Given the description of an element on the screen output the (x, y) to click on. 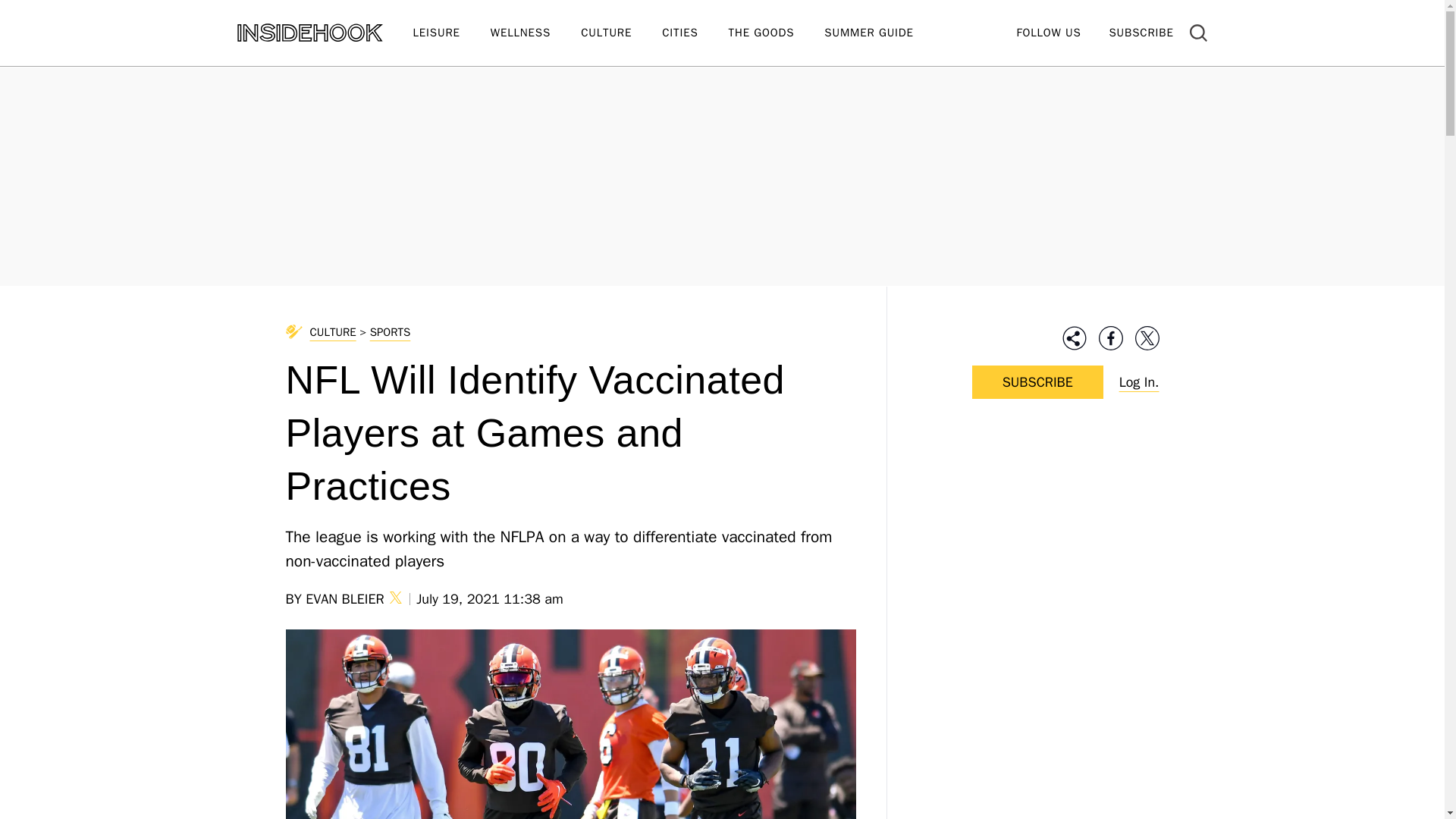
SUMMER GUIDE (883, 32)
CULTURE (621, 32)
THE GOODS (777, 32)
FOLLOW US (1048, 32)
WELLNESS (535, 32)
3rd party ad content (1037, 530)
SUBSCRIBE (1140, 32)
CITIES (695, 32)
LEISURE (450, 32)
